Given the description of an element on the screen output the (x, y) to click on. 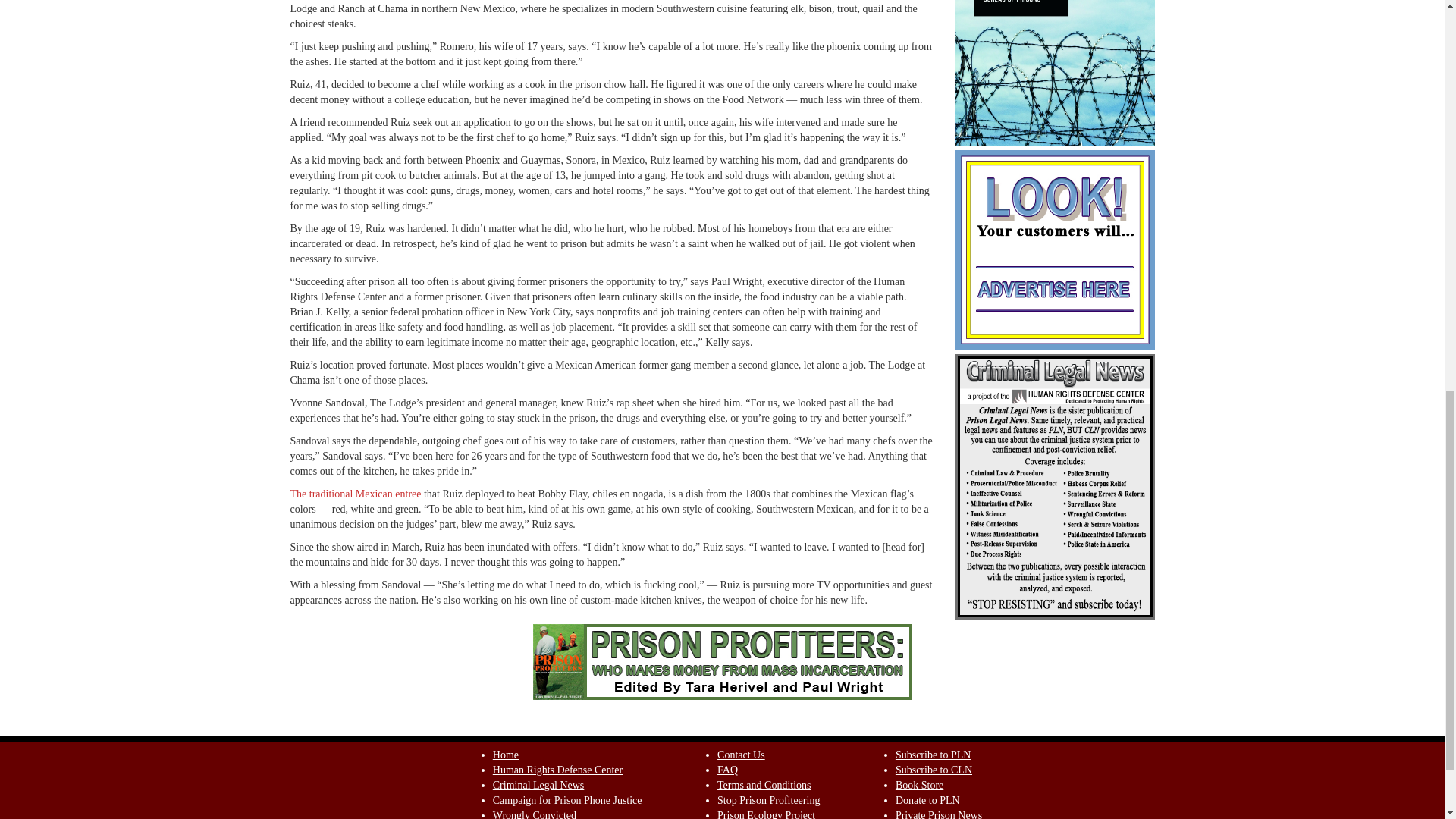
The traditional Mexican entree (354, 493)
